Given the description of an element on the screen output the (x, y) to click on. 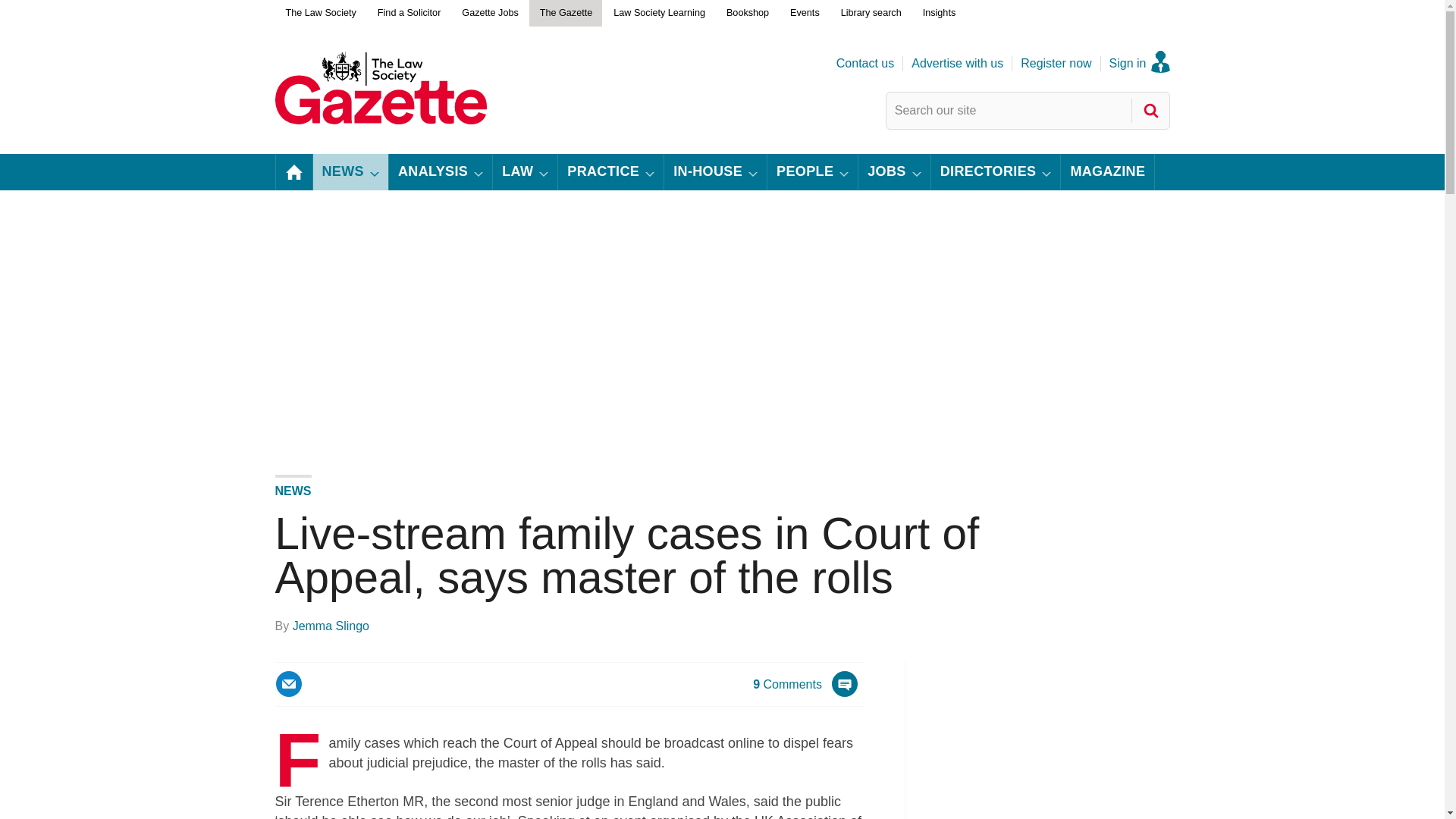
The Law Society (320, 13)
Bookshop (747, 13)
9 Comments (805, 693)
Events (803, 13)
Library search (870, 13)
The Gazette (565, 13)
Advertise with us (957, 63)
Law Society Learning (658, 13)
SEARCH (1150, 110)
Gazette Jobs (489, 13)
Email this article (288, 683)
Library search (870, 13)
Contact us (864, 63)
Insights (939, 13)
The Law Society (320, 13)
